Given the description of an element on the screen output the (x, y) to click on. 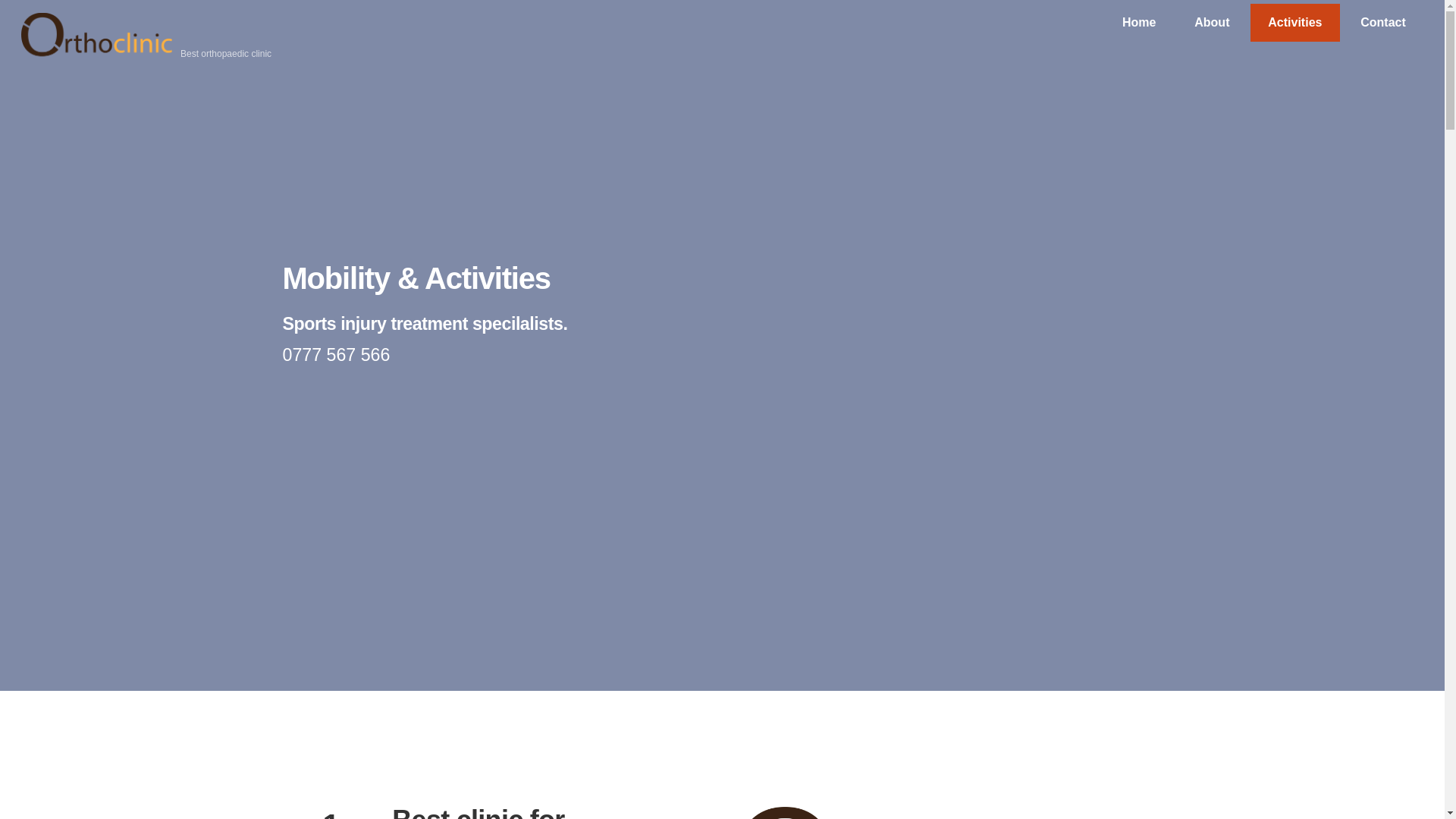
Contact (722, 22)
Home (1382, 22)
Activities (1139, 22)
About (1294, 22)
OrthoClinic (1211, 22)
Orthopaedic clinic (97, 52)
